Given the description of an element on the screen output the (x, y) to click on. 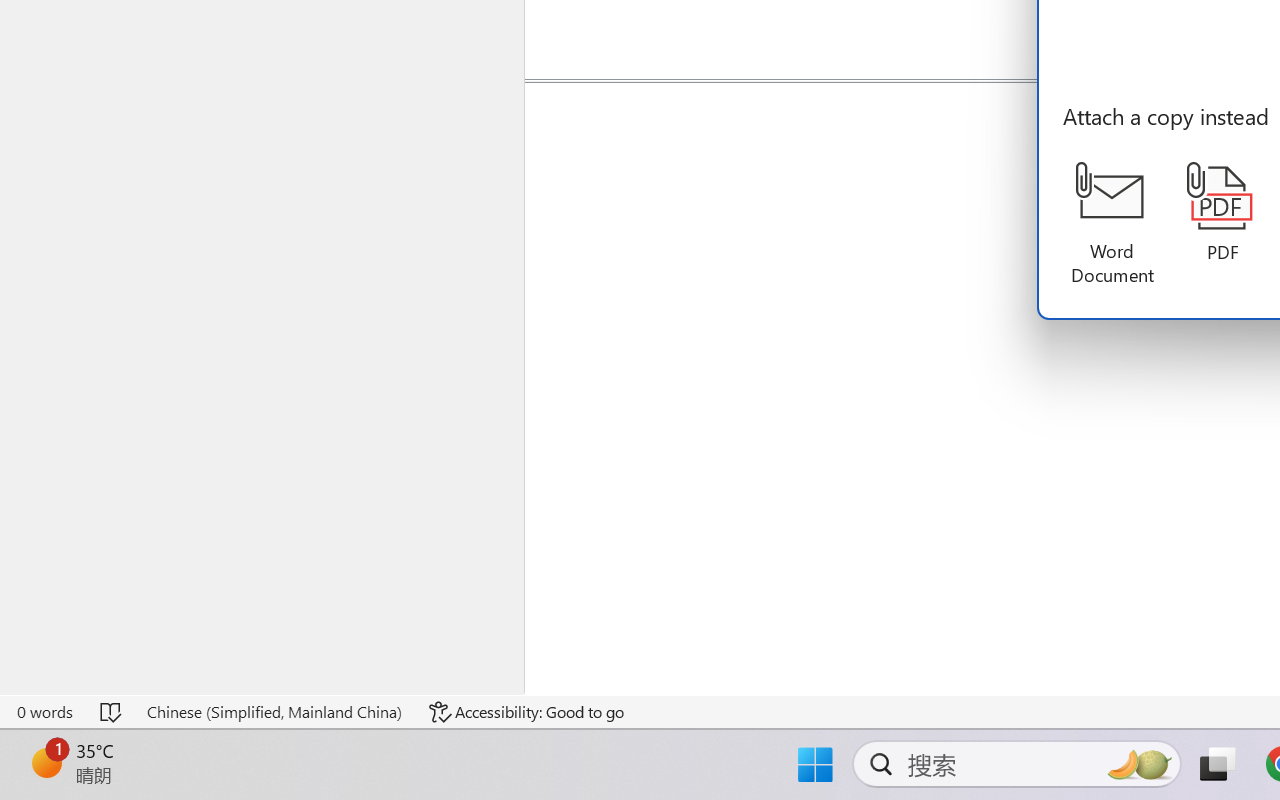
Word Document (1112, 224)
PDF (1222, 213)
